Given the description of an element on the screen output the (x, y) to click on. 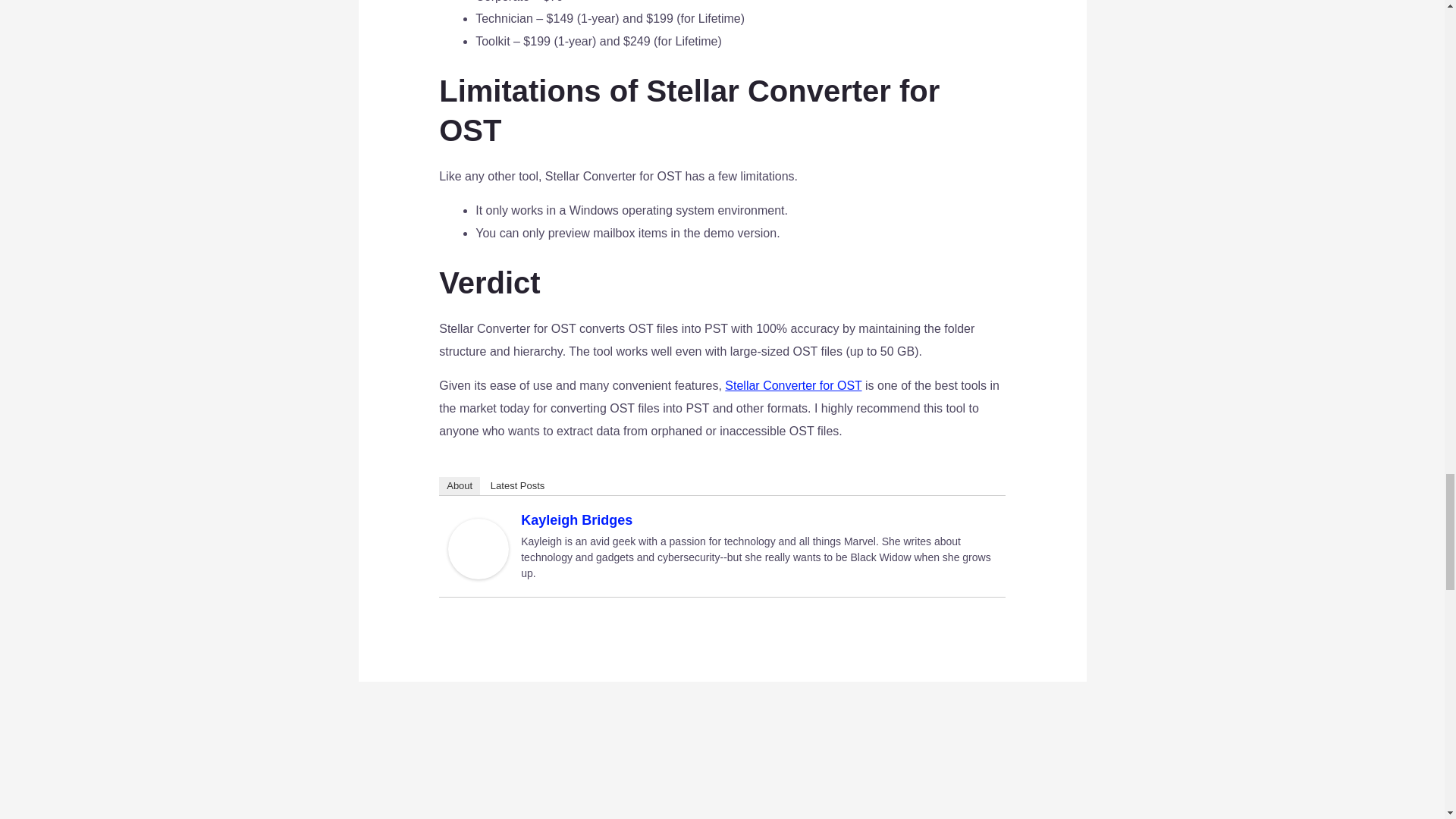
Stellar Converter for OST (793, 385)
Kayleigh Bridges (478, 548)
Kayleigh Bridges (576, 519)
Latest Posts (518, 485)
About (459, 485)
